Given the description of an element on the screen output the (x, y) to click on. 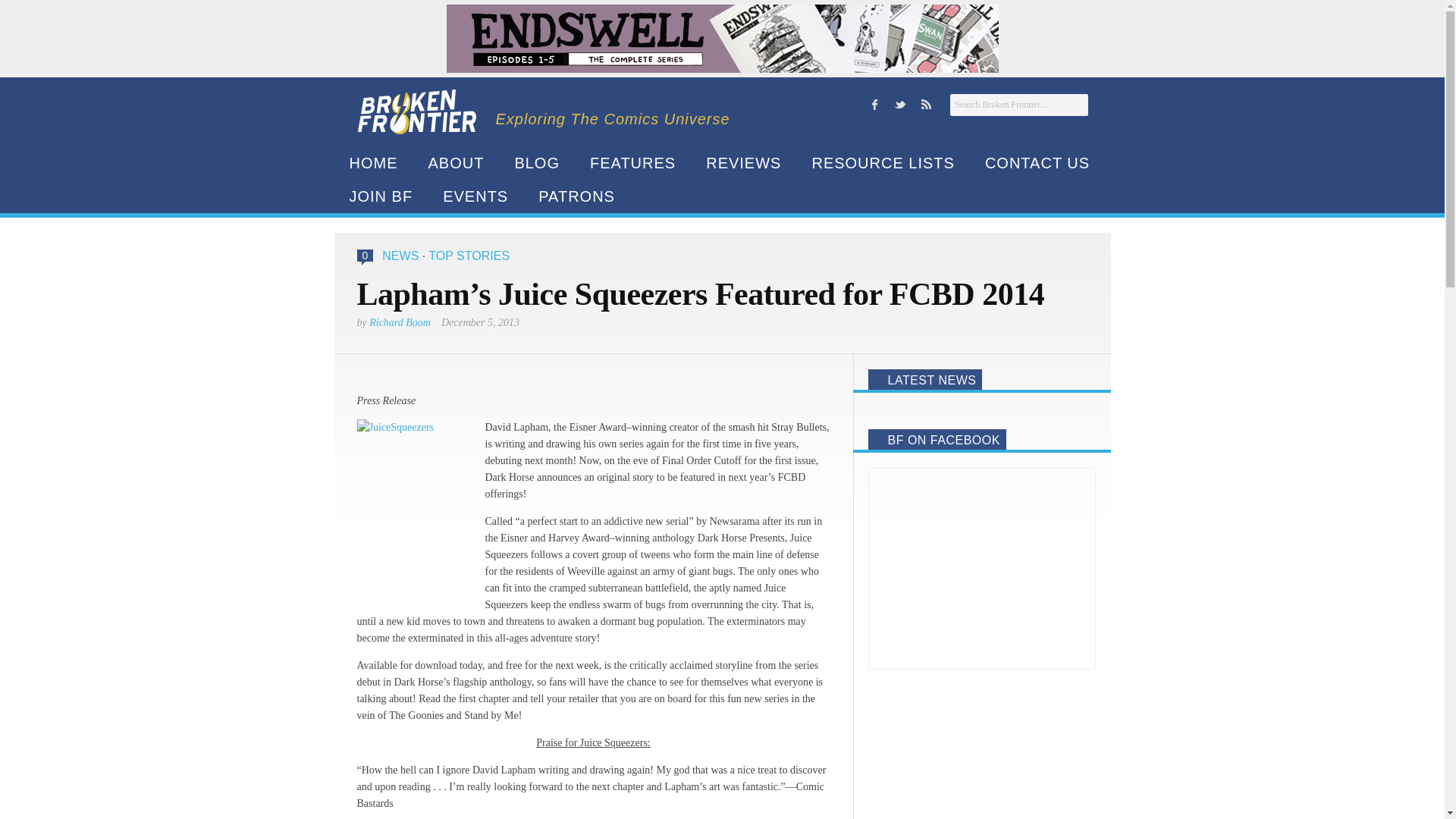
Search Broken Frontier... (1018, 105)
TOP STORIES (468, 255)
Richard Boom (399, 322)
PATRONS (576, 195)
EVENTS (475, 195)
ABOUT (455, 162)
Posts by Richard Boom (399, 322)
CONTACT US (1037, 162)
FEATURES (632, 162)
0 (365, 255)
JOIN BF (380, 195)
REVIEWS (743, 162)
RESOURCE LISTS (882, 162)
HOME (372, 162)
BLOG (537, 162)
